Given the description of an element on the screen output the (x, y) to click on. 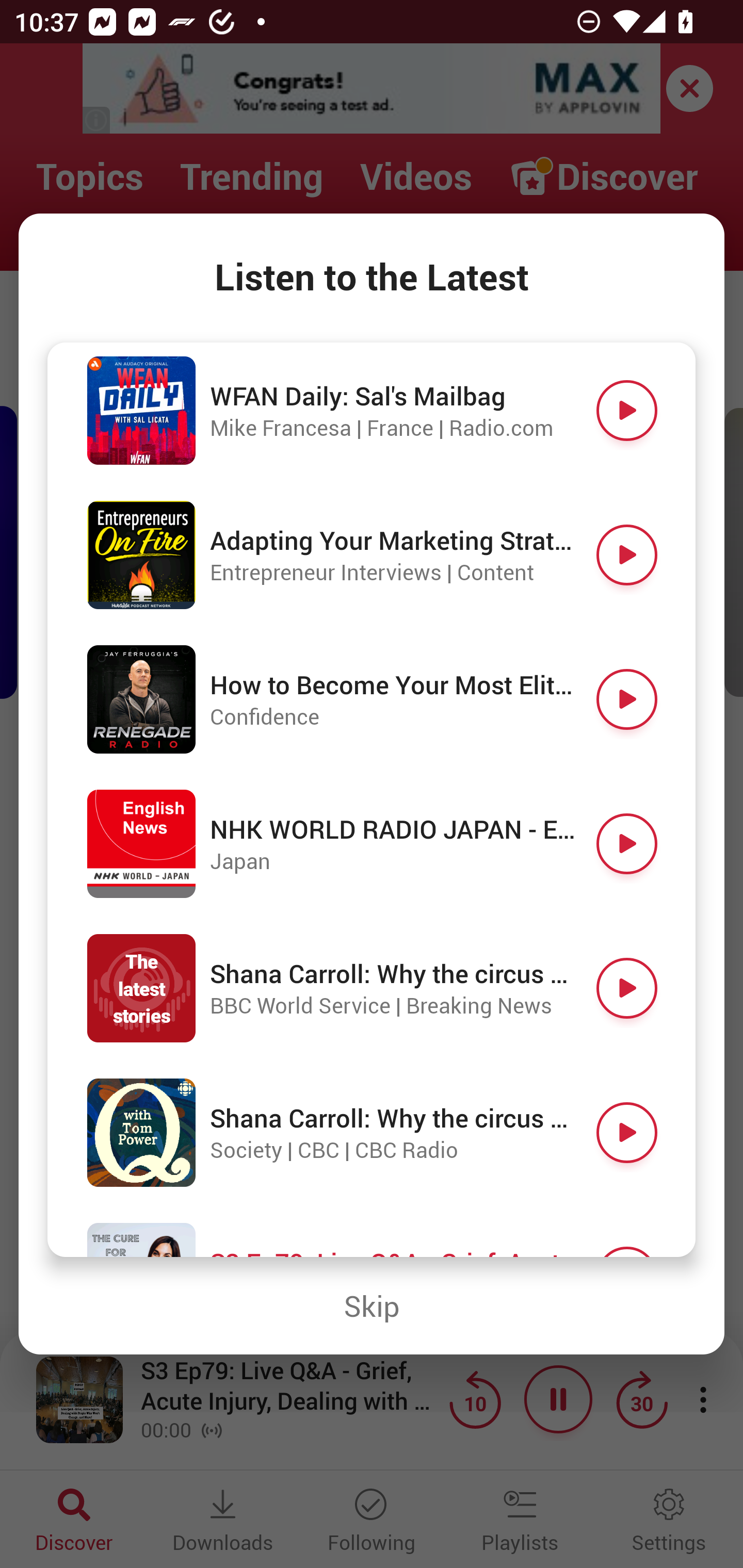
Skip (371, 1305)
